Given the description of an element on the screen output the (x, y) to click on. 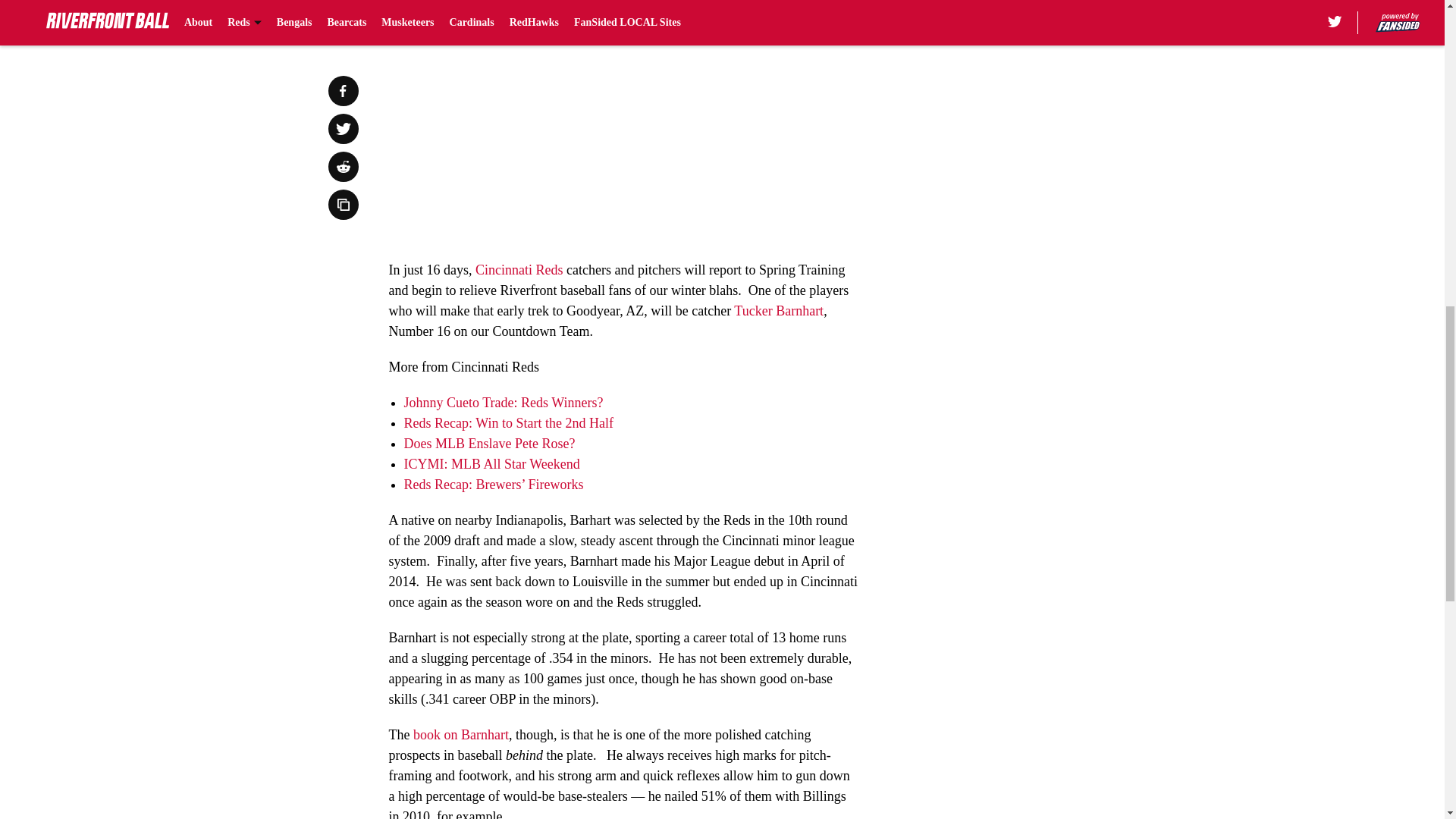
Reds Recap: Win to Start the 2nd Half (507, 422)
Cincinnati Reds (519, 269)
Tucker Barnhart (778, 310)
book on Barnhart (460, 734)
ICYMI: MLB All Star Weekend (491, 463)
Does MLB Enslave Pete Rose? (489, 443)
Johnny Cueto Trade: Reds Winners? (502, 402)
